Given the description of an element on the screen output the (x, y) to click on. 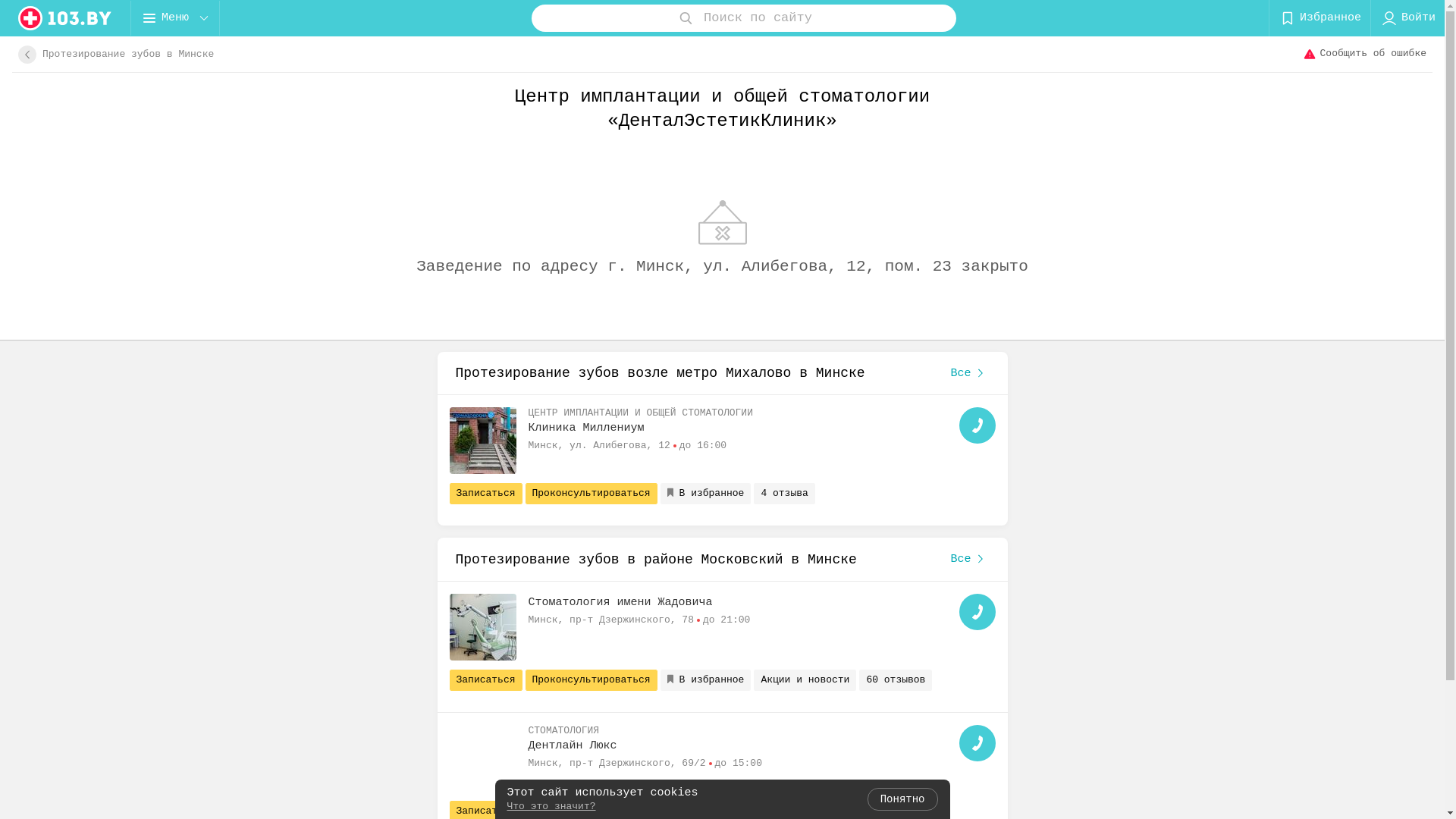
logo Element type: hover (65, 18)
